Given the description of an element on the screen output the (x, y) to click on. 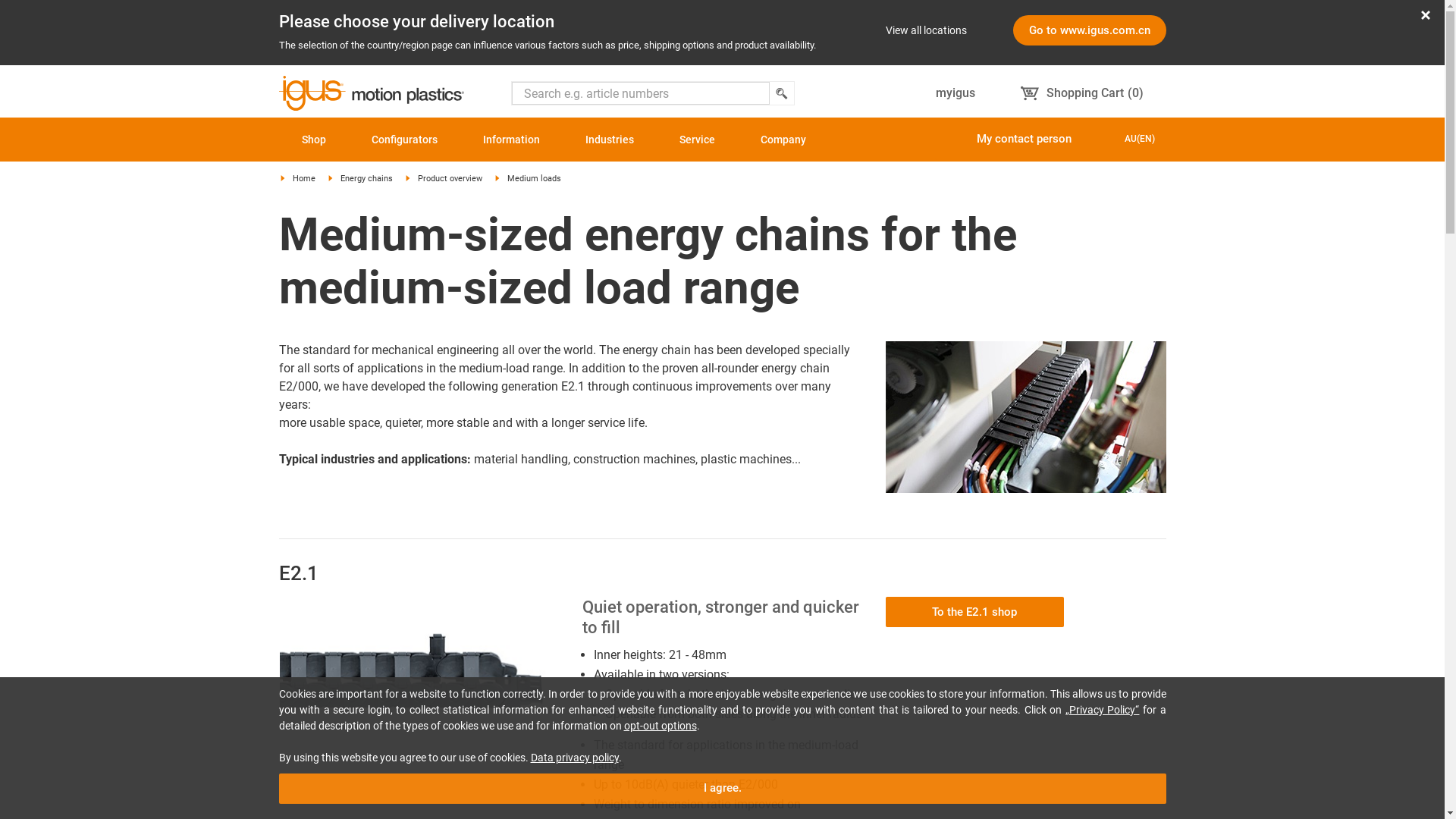
opt-out options Element type: text (659, 725)
I agree. Element type: text (722, 788)
Product overview Element type: text (437, 184)
Go to www.igus.com.cn Element type: text (1089, 30)
Data privacy policy Element type: text (574, 757)
To the E2.1 shop Element type: text (974, 611)
myigus Element type: text (955, 93)
AU(EN) Element type: text (1139, 138)
Home Element type: text (290, 184)
View all locations Element type: text (925, 30)
Shopping Cart
(0) Element type: text (1081, 93)
Energy chains Element type: text (353, 184)
